Given the description of an element on the screen output the (x, y) to click on. 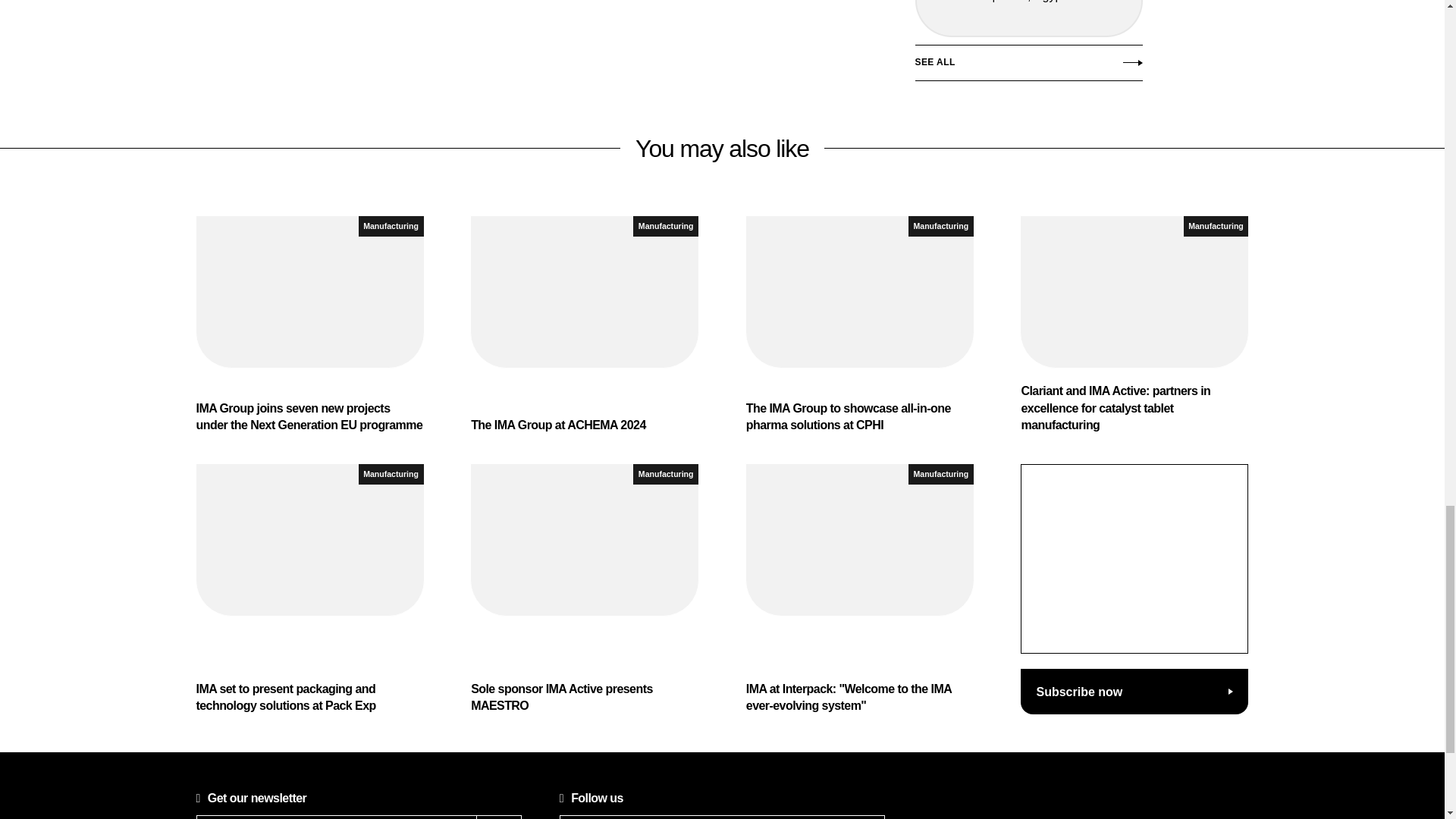
The IMA Group at ACHEMA 2024 (584, 325)
Manufacturing (390, 226)
Manufacturing (665, 226)
SEE ALL (1027, 66)
